Given the description of an element on the screen output the (x, y) to click on. 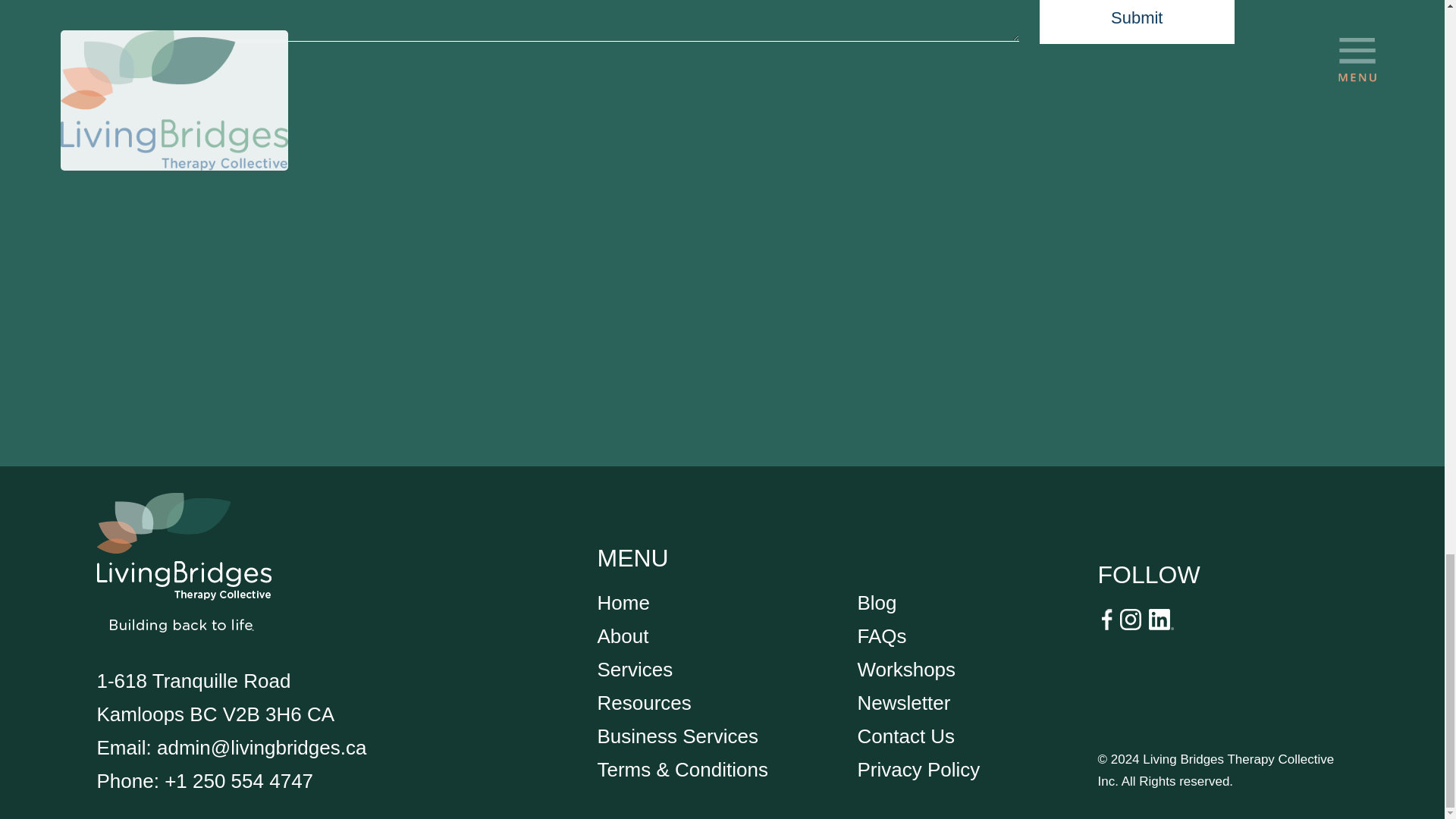
Contact Us (906, 735)
Newsletter (903, 702)
Submit (1136, 22)
Blog (876, 602)
Business Services (677, 735)
Workshops (906, 669)
Home (622, 602)
About (622, 635)
FAQs (881, 635)
Privacy Policy (918, 769)
